Given the description of an element on the screen output the (x, y) to click on. 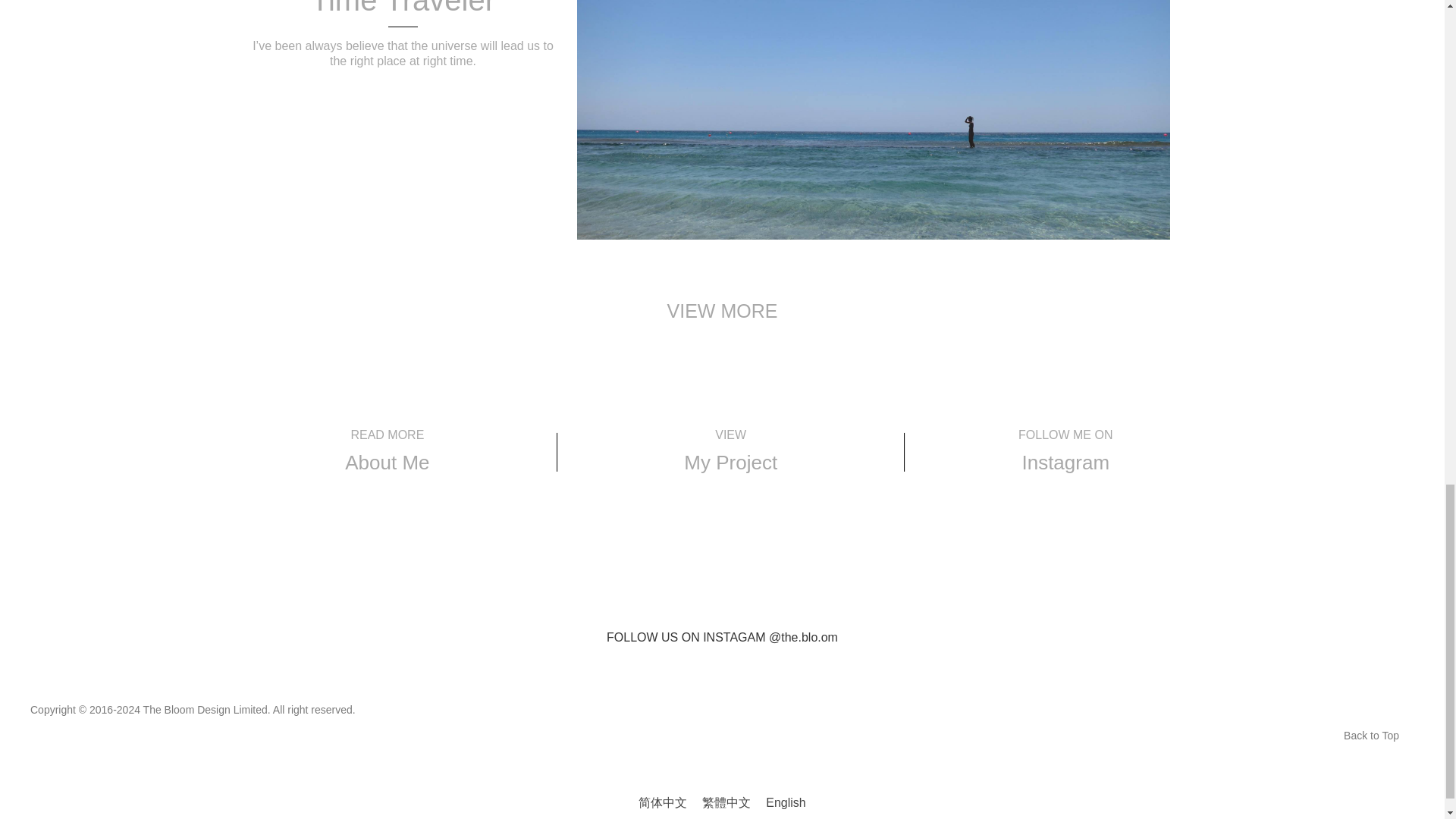
READ MORE (386, 434)
FOLLOW ME ON (1064, 434)
Back to Top (1371, 735)
VIEW (729, 434)
English (785, 803)
